Given the description of an element on the screen output the (x, y) to click on. 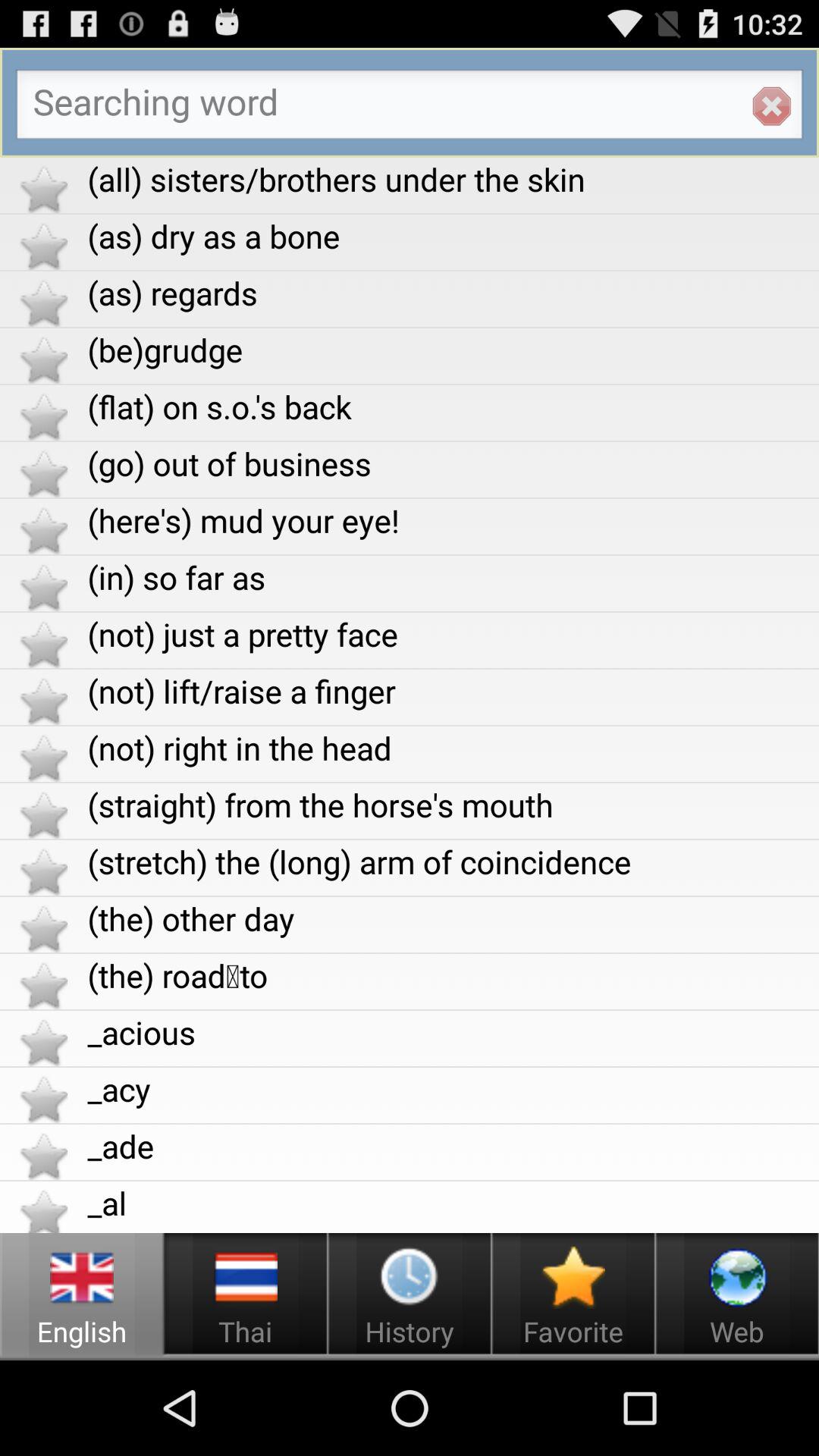
click (as) regards app (453, 292)
